Given the description of an element on the screen output the (x, y) to click on. 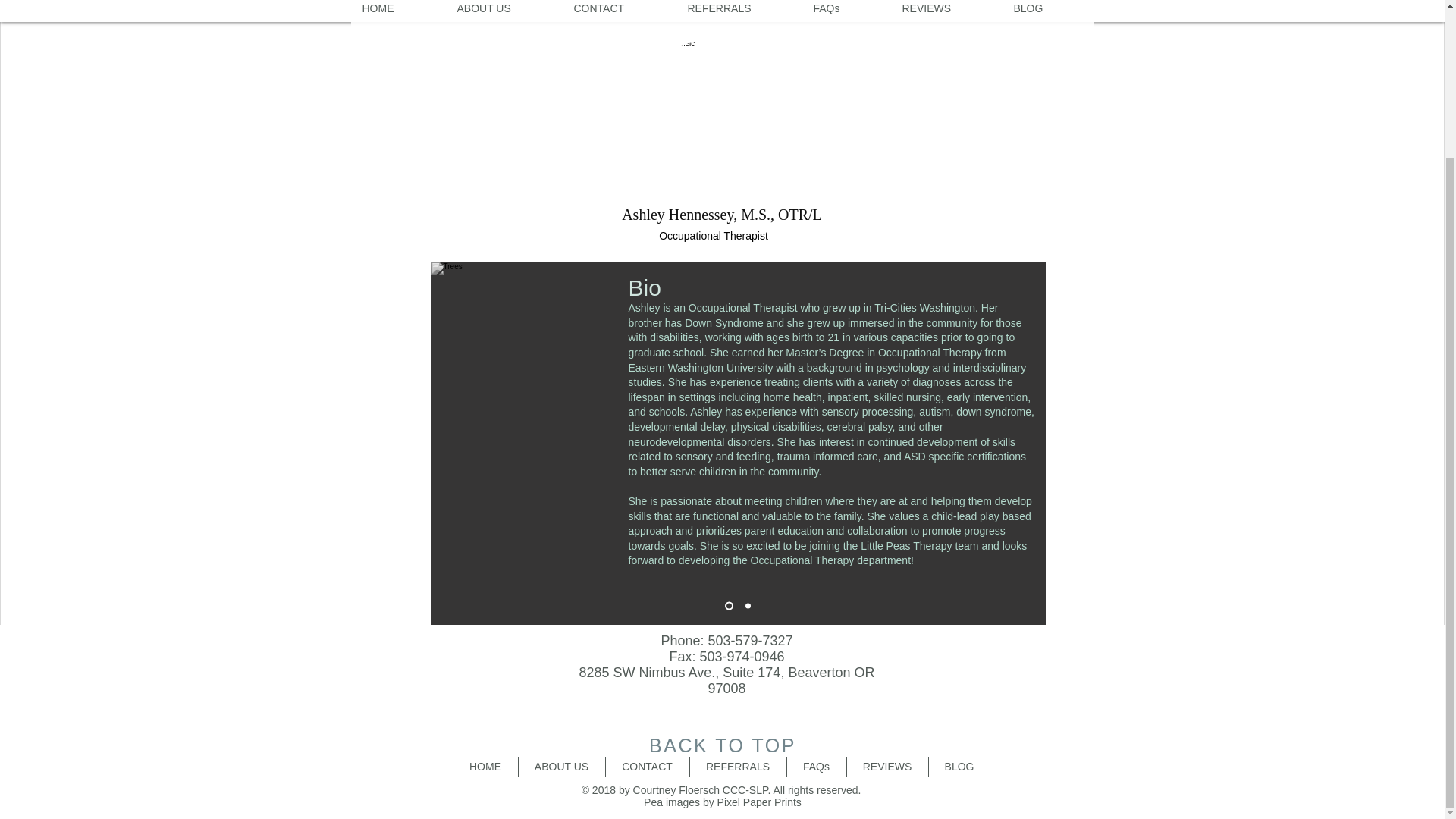
REFERRALS (739, 11)
HOME (485, 766)
ABOUT US (503, 11)
CONTACT (619, 11)
BACK TO TOP (722, 744)
REVIEWS (945, 11)
FAQs (846, 11)
ABOUT US (561, 766)
BLOG (959, 766)
HOME (397, 11)
